Given the description of an element on the screen output the (x, y) to click on. 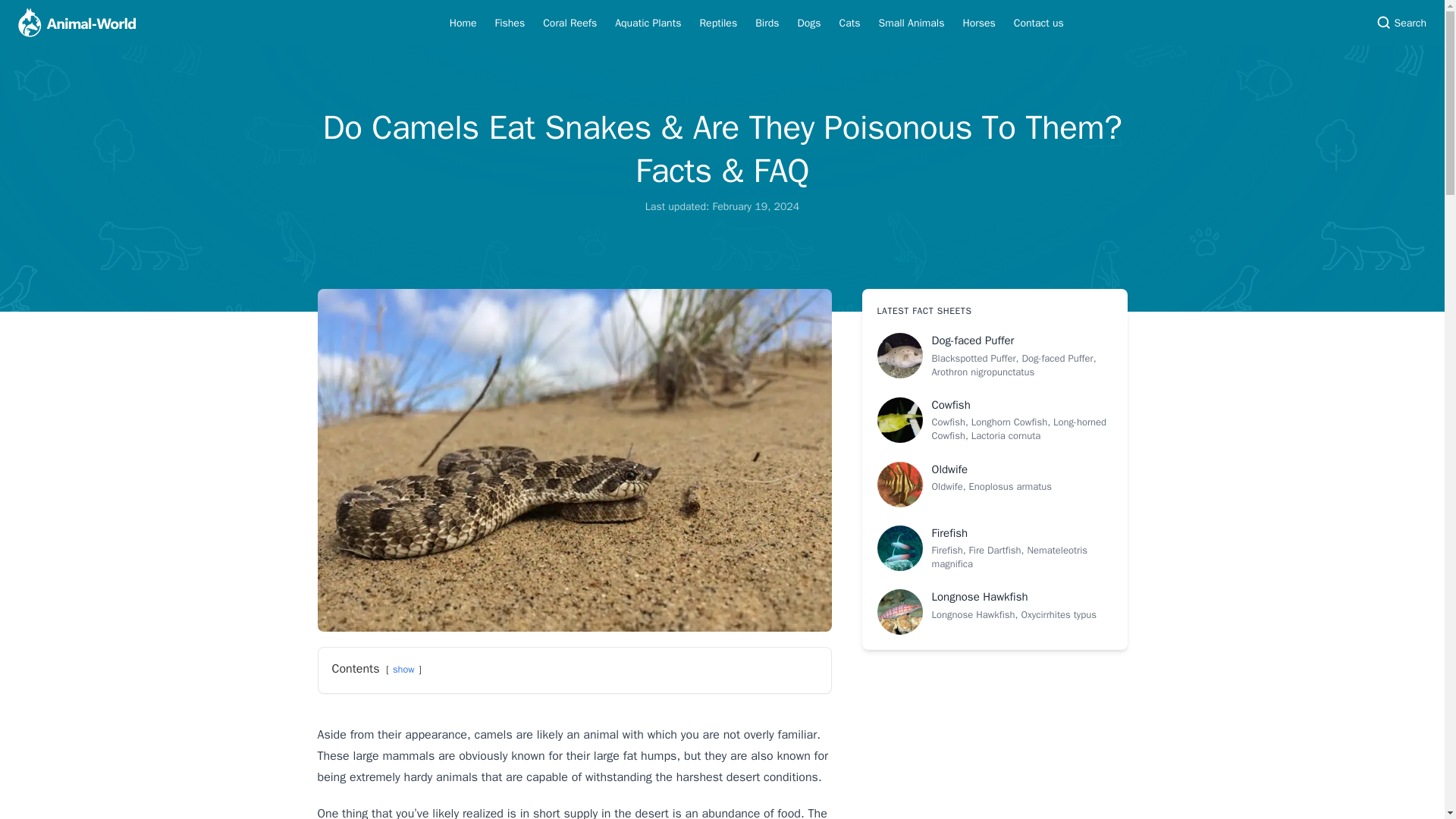
Cowfish (994, 420)
Oldwife Fish (994, 483)
Cats (849, 23)
Coral Reefs (569, 23)
Firefish (994, 548)
Longnose Hawkfish (994, 611)
Birds (766, 23)
Fishes (509, 23)
Animal World Logo (76, 22)
Home (463, 23)
Contact us (1038, 23)
Aquatic Plants (647, 23)
Dogs (809, 23)
Small Animals (911, 23)
Reptiles (717, 23)
